Given the description of an element on the screen output the (x, y) to click on. 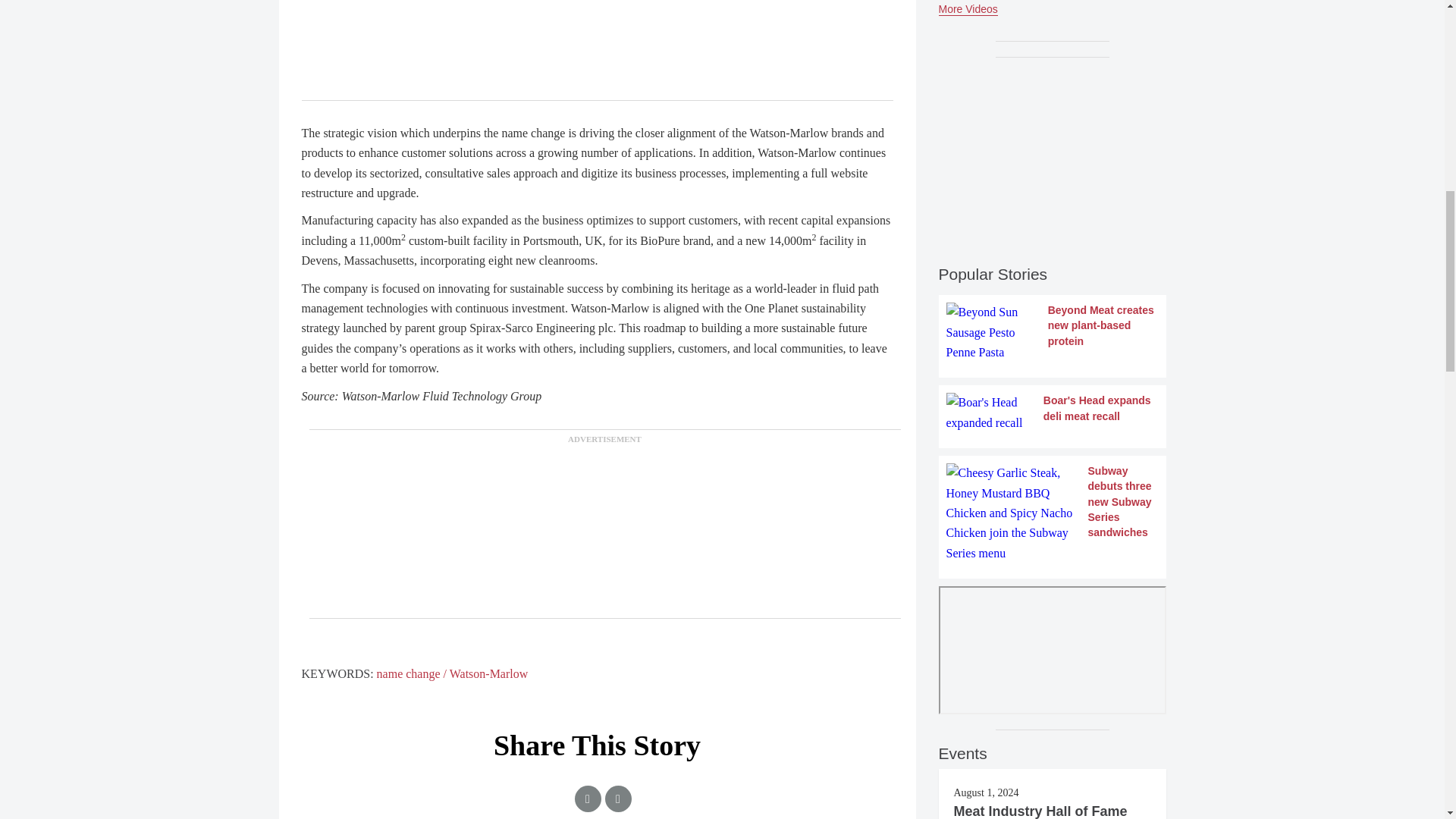
Subway debuts three new Subway Series sandwiches (1052, 513)
Boar's Head expands deli meat recall (1052, 413)
Meat Industry Hall of Fame (1039, 811)
Beyond Meat creates new plant-based protein (1052, 332)
